Given the description of an element on the screen output the (x, y) to click on. 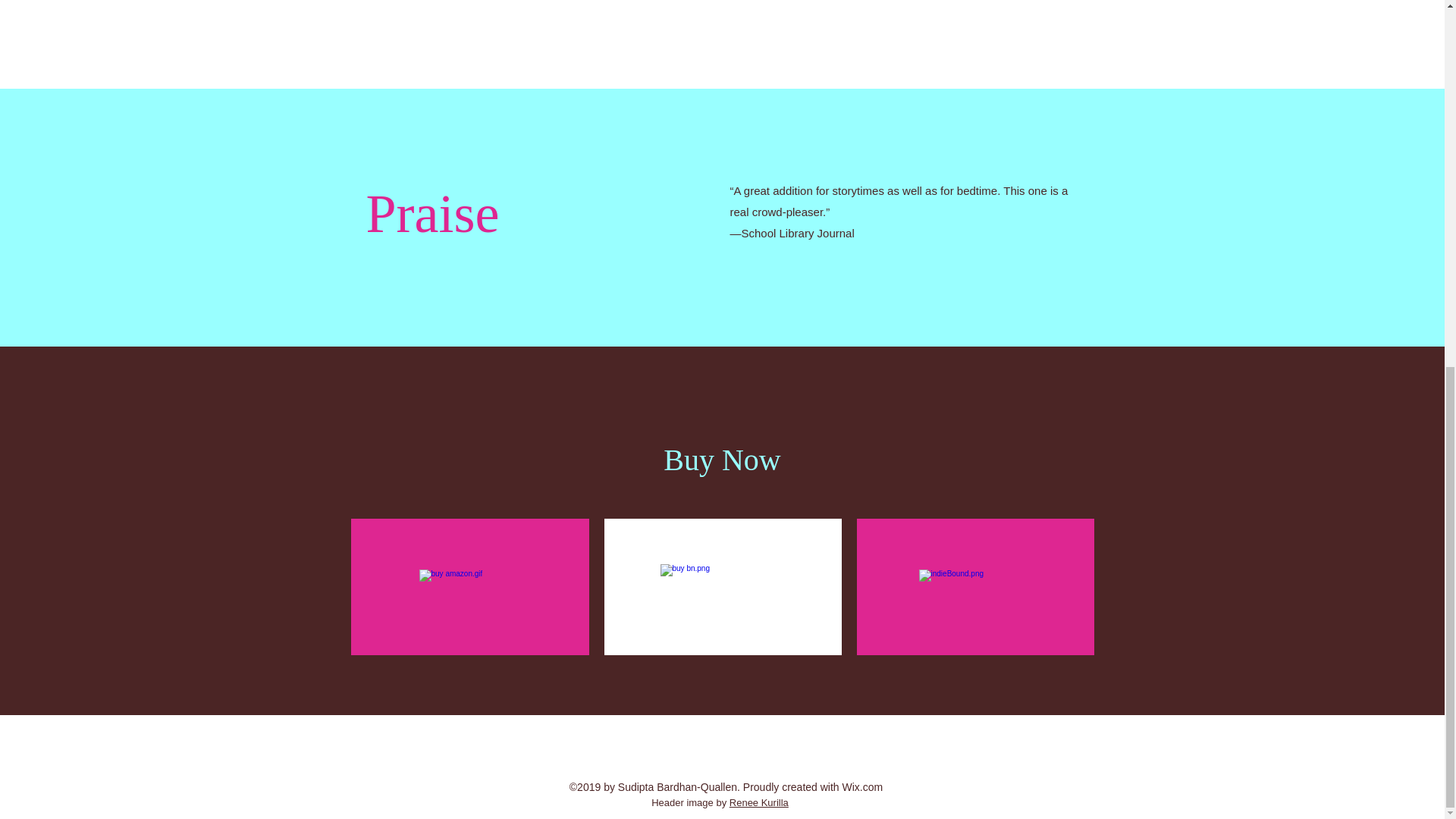
Renee Kurilla (759, 802)
